Given the description of an element on the screen output the (x, y) to click on. 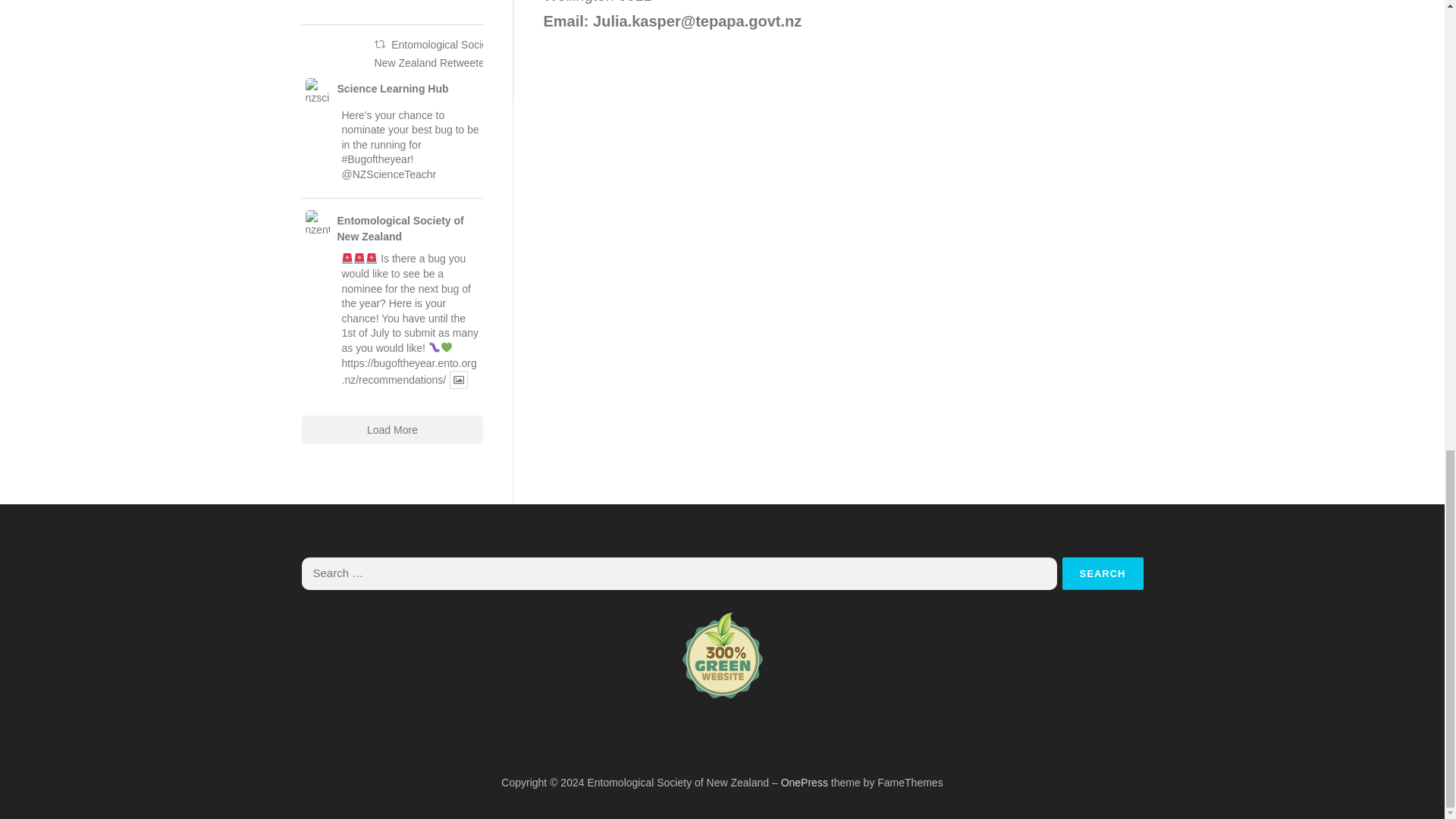
Science Learning Hub (392, 89)
Retweet on Twitter (379, 43)
Search (1102, 573)
Entomological Society of New Zealand Retweeted (441, 53)
Search (1102, 573)
